Given the description of an element on the screen output the (x, y) to click on. 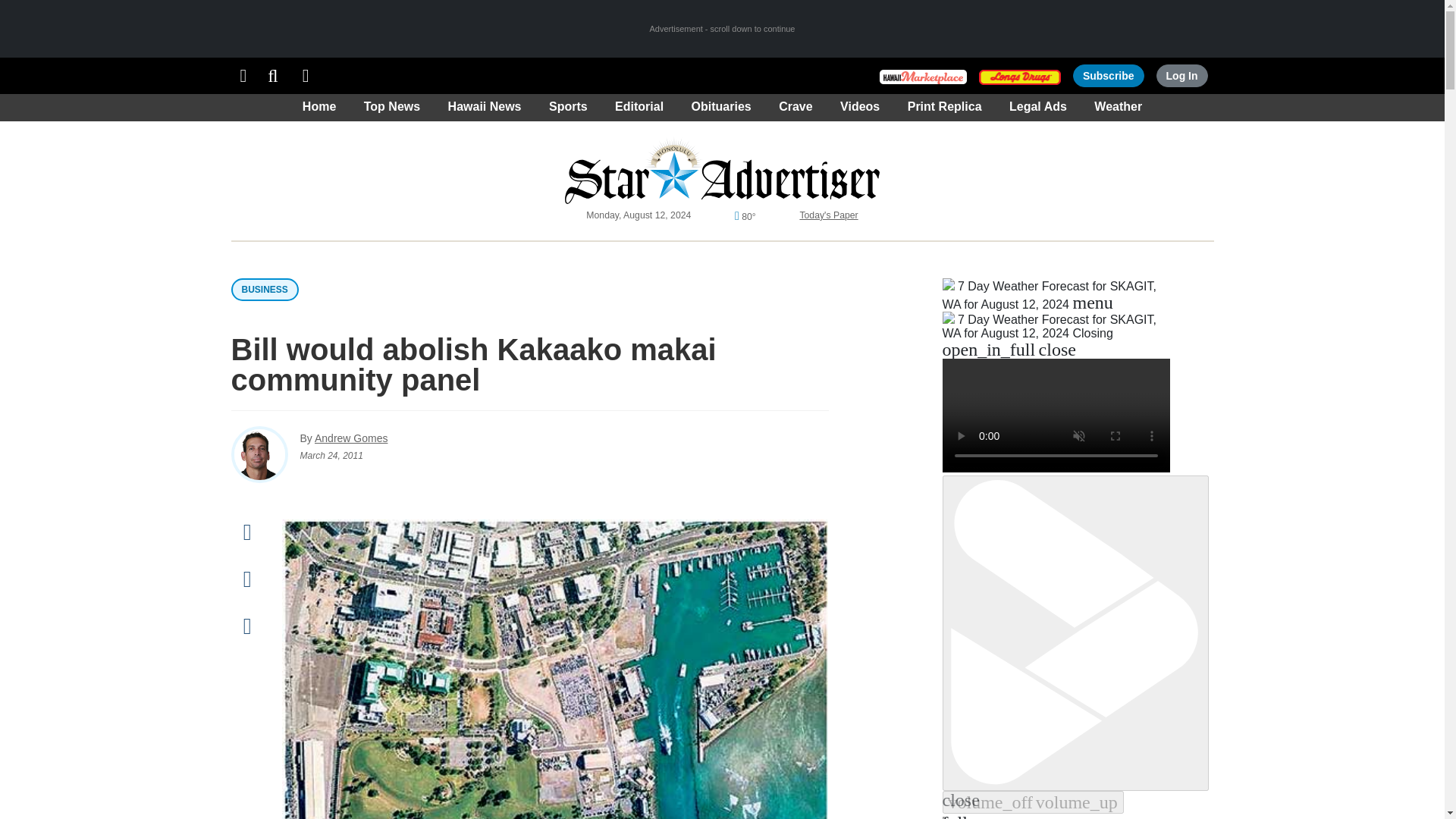
See more stories by Andrew Gomes (350, 438)
Search (272, 75)
Honolulu Star-Advertiser (721, 169)
Sections (243, 75)
Subscribe (1108, 75)
Log In (1182, 75)
Print Replica (306, 75)
